Given the description of an element on the screen output the (x, y) to click on. 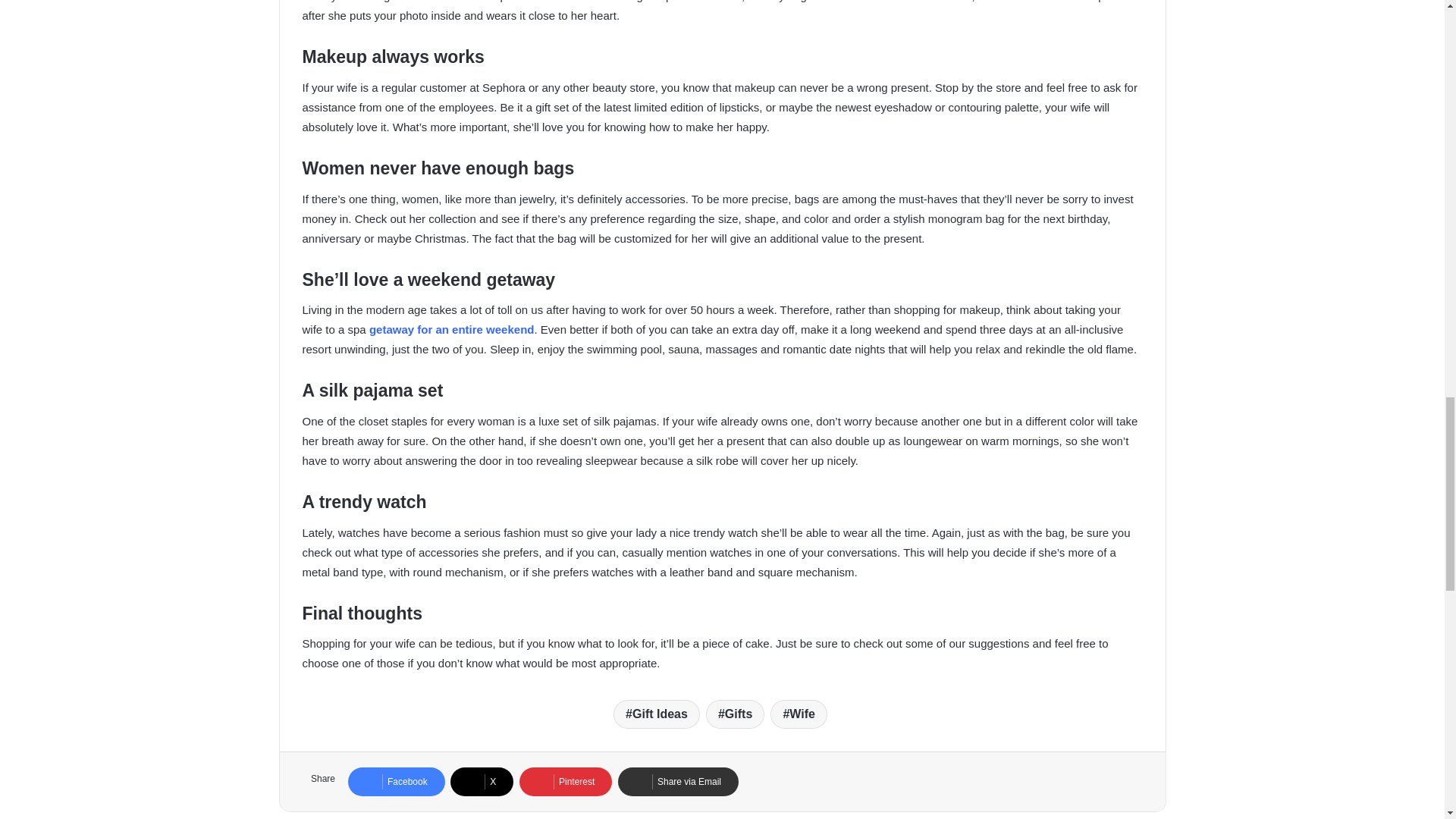
X (481, 781)
Facebook (396, 781)
Share via Email (677, 781)
Pinterest (565, 781)
